Given the description of an element on the screen output the (x, y) to click on. 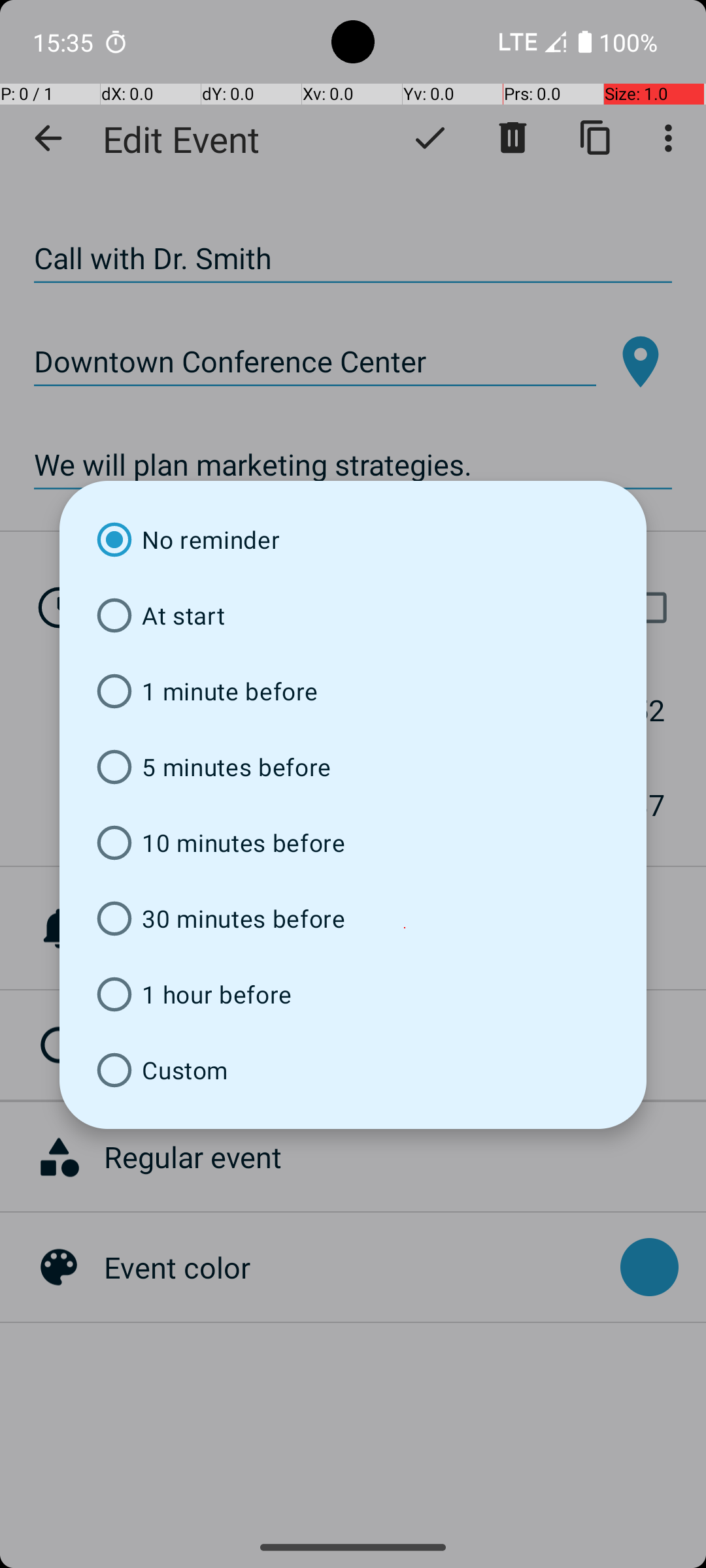
At start Element type: android.widget.RadioButton (352, 615)
1 minute before Element type: android.widget.RadioButton (352, 691)
5 minutes before Element type: android.widget.RadioButton (352, 766)
30 minutes before Element type: android.widget.RadioButton (352, 918)
1 hour before Element type: android.widget.RadioButton (352, 994)
